Given the description of an element on the screen output the (x, y) to click on. 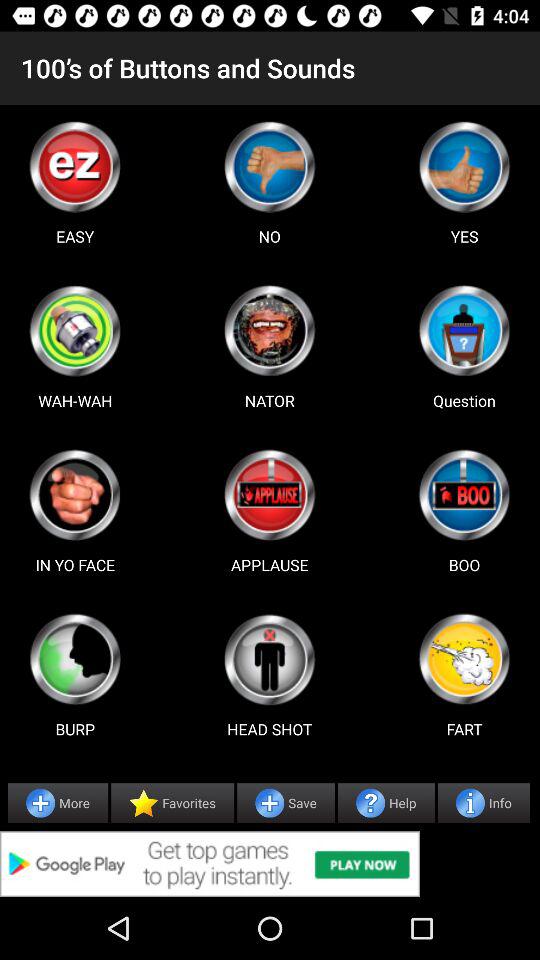
game options (75, 330)
